Given the description of an element on the screen output the (x, y) to click on. 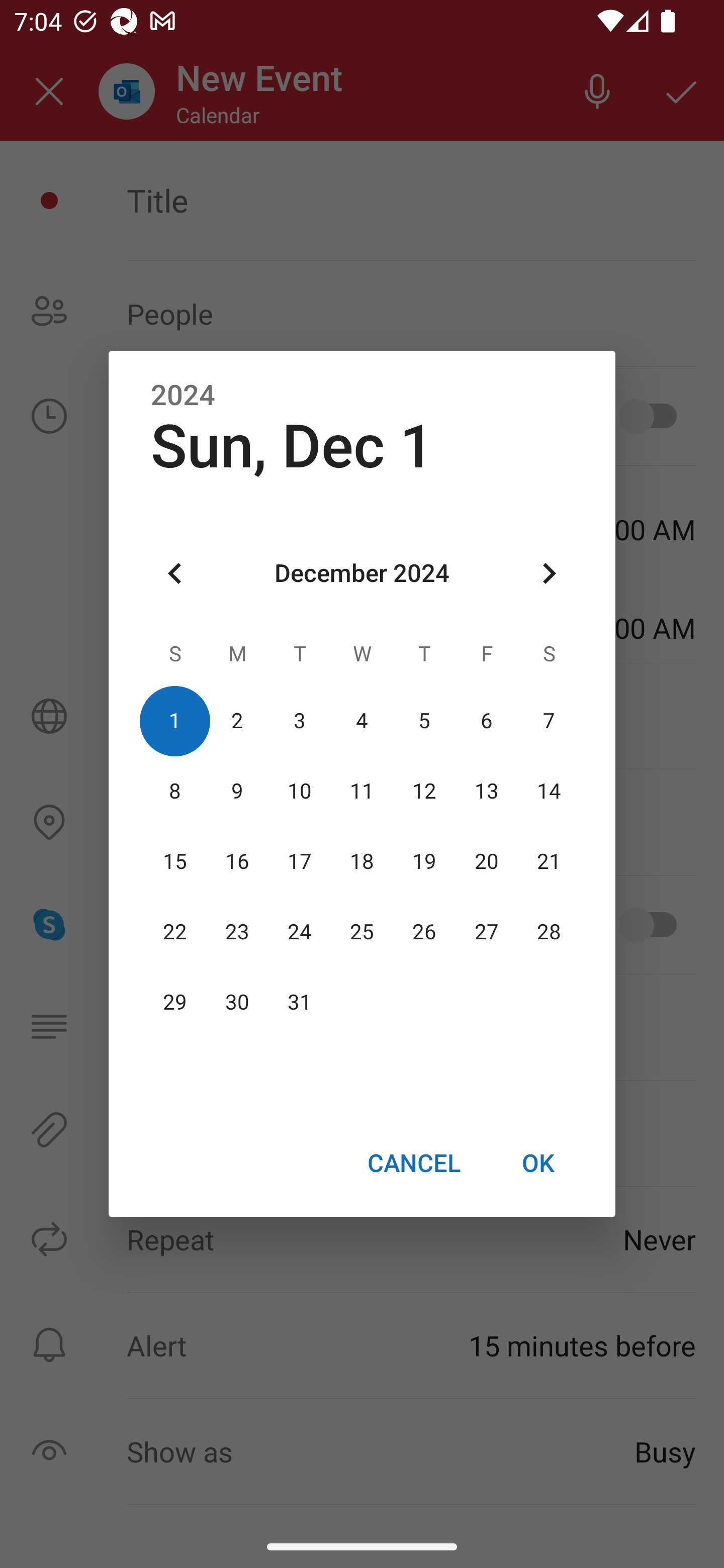
2024 (182, 395)
Sun, Dec 1 (291, 446)
Previous month (174, 573)
Next month (548, 573)
1 01 December 2024 (175, 720)
2 02 December 2024 (237, 720)
3 03 December 2024 (299, 720)
4 04 December 2024 (361, 720)
5 05 December 2024 (424, 720)
6 06 December 2024 (486, 720)
7 07 December 2024 (548, 720)
8 08 December 2024 (175, 790)
9 09 December 2024 (237, 790)
10 10 December 2024 (299, 790)
11 11 December 2024 (361, 790)
12 12 December 2024 (424, 790)
13 13 December 2024 (486, 790)
14 14 December 2024 (548, 790)
15 15 December 2024 (175, 861)
16 16 December 2024 (237, 861)
17 17 December 2024 (299, 861)
18 18 December 2024 (361, 861)
19 19 December 2024 (424, 861)
20 20 December 2024 (486, 861)
21 21 December 2024 (548, 861)
22 22 December 2024 (175, 931)
23 23 December 2024 (237, 931)
24 24 December 2024 (299, 931)
25 25 December 2024 (361, 931)
26 26 December 2024 (424, 931)
27 27 December 2024 (486, 931)
28 28 December 2024 (548, 931)
29 29 December 2024 (175, 1002)
30 30 December 2024 (237, 1002)
31 31 December 2024 (299, 1002)
CANCEL (413, 1162)
OK (537, 1162)
